Given the description of an element on the screen output the (x, y) to click on. 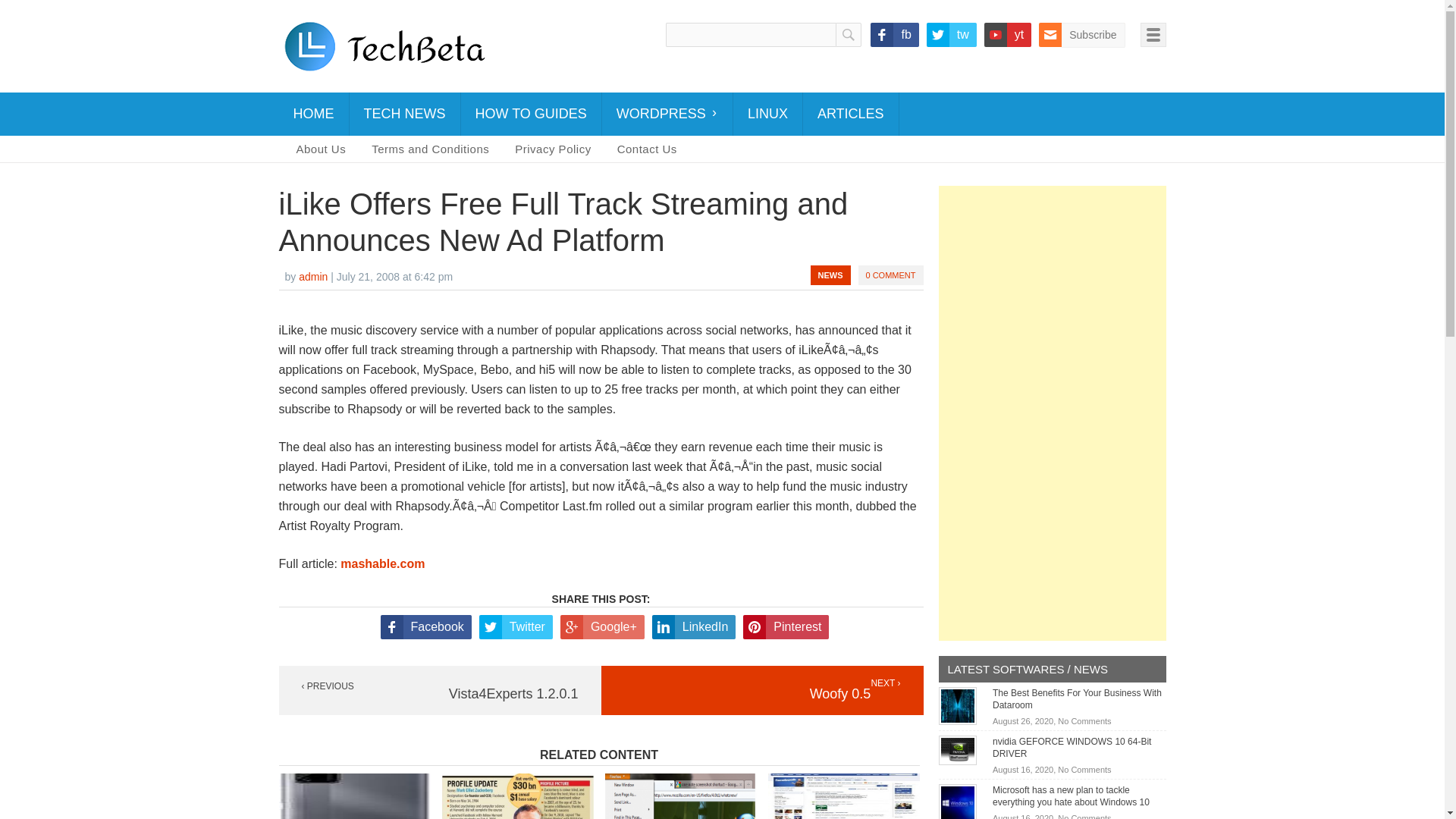
yt (1007, 34)
HOME (314, 113)
fb (894, 34)
TECH NEWS (404, 113)
Open Menu (1153, 34)
View all posts by admin (312, 276)
The Best Benefits For Your Business With Dataroom (1076, 698)
nvidia GEFORCE WINDOWS 10 64-Bit DRIVER (1071, 747)
Subscribe (1081, 34)
HOW TO GUIDES (531, 113)
tw (951, 34)
WORDPRESS (667, 113)
The Best Benefits For Your Business With Dataroom (957, 705)
